Given the description of an element on the screen output the (x, y) to click on. 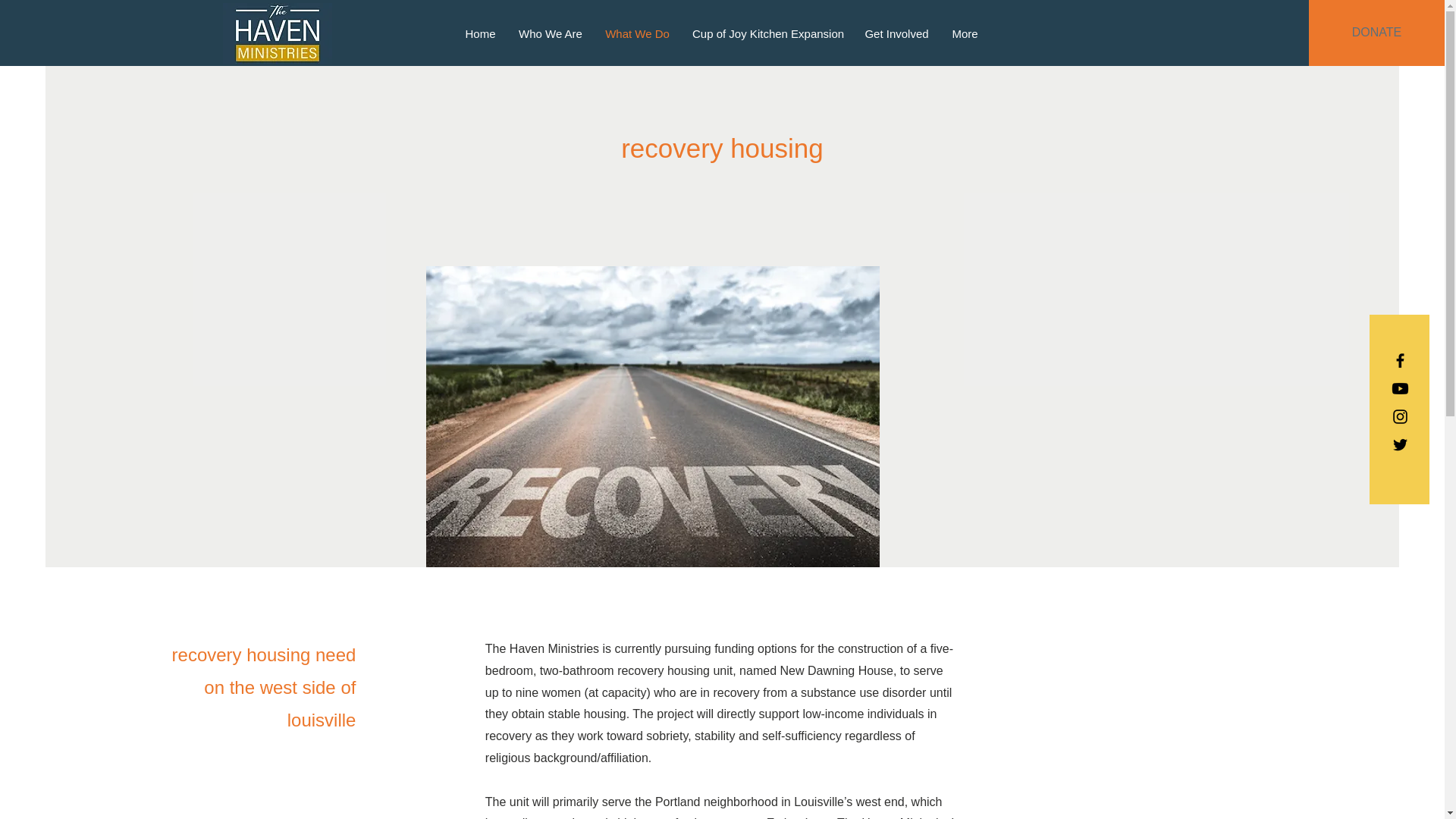
What We Do (637, 33)
Who We Are (550, 33)
Get Involved (896, 33)
Home (479, 33)
Cup of Joy Kitchen Expansion (767, 33)
